Given the description of an element on the screen output the (x, y) to click on. 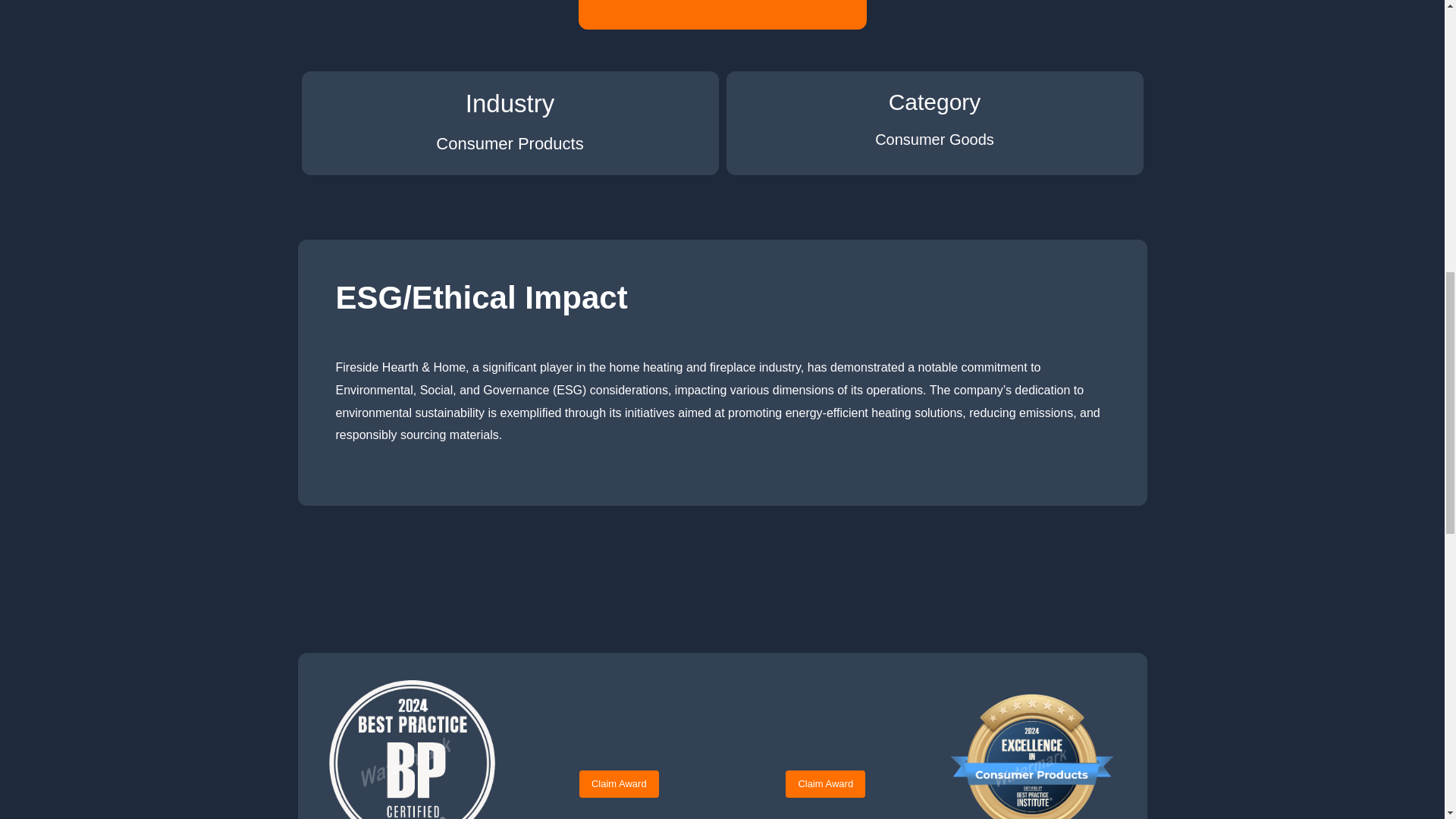
Claim Award (825, 783)
Claim Award (619, 783)
